Given the description of an element on the screen output the (x, y) to click on. 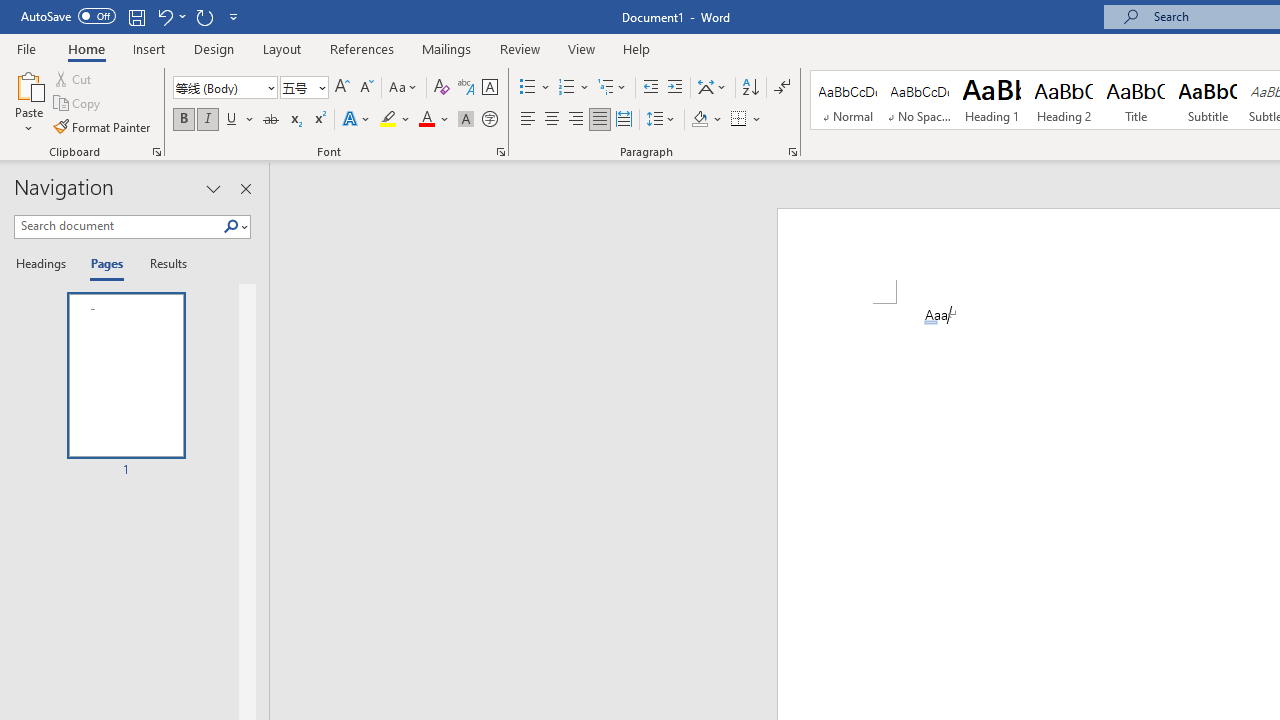
Action: Undo Auto Actions (931, 321)
Repeat Style (204, 15)
Title (1135, 100)
